Given the description of an element on the screen output the (x, y) to click on. 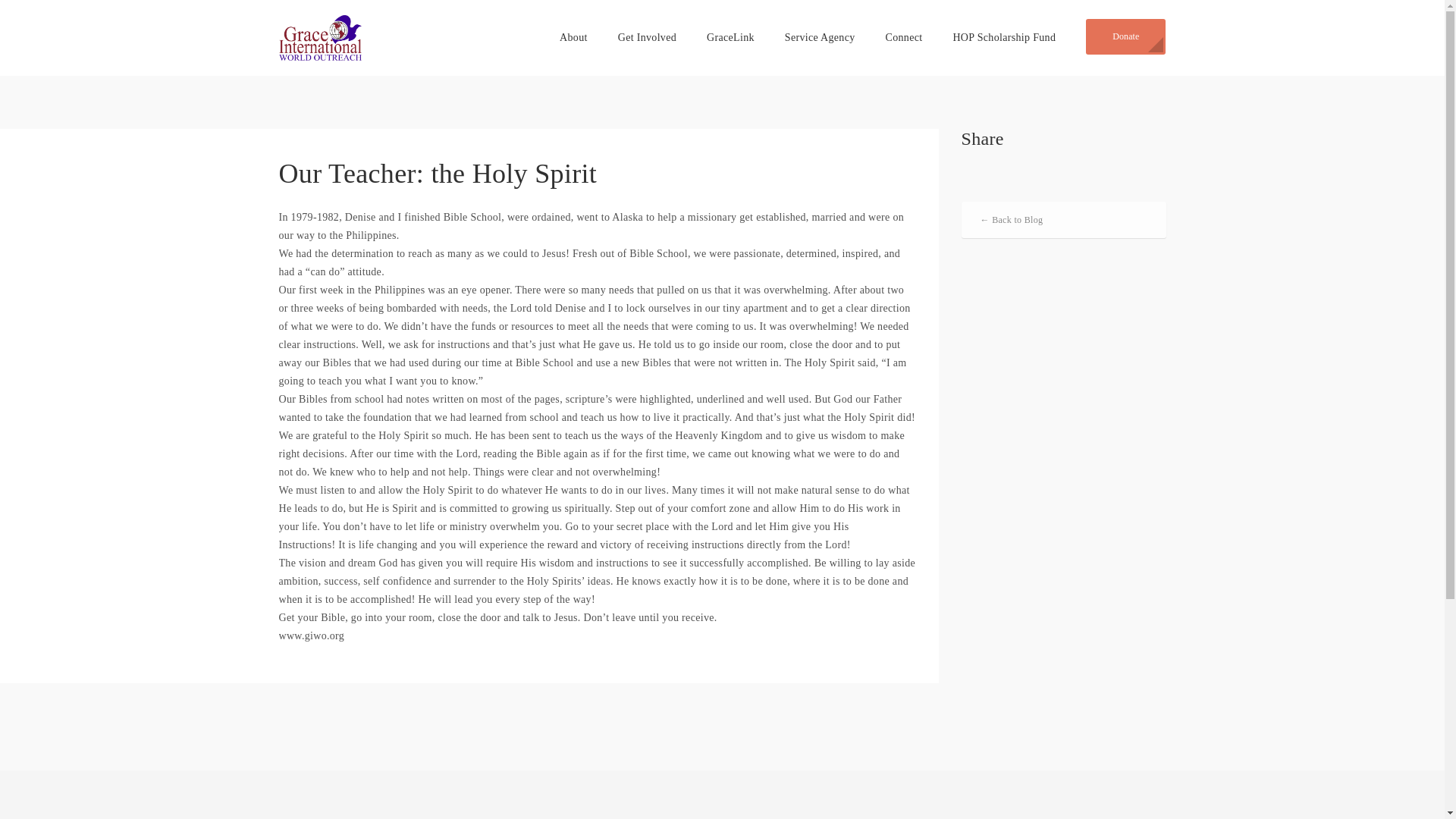
Donate (1126, 36)
Get Involved (646, 38)
Return home. (320, 36)
